Given the description of an element on the screen output the (x, y) to click on. 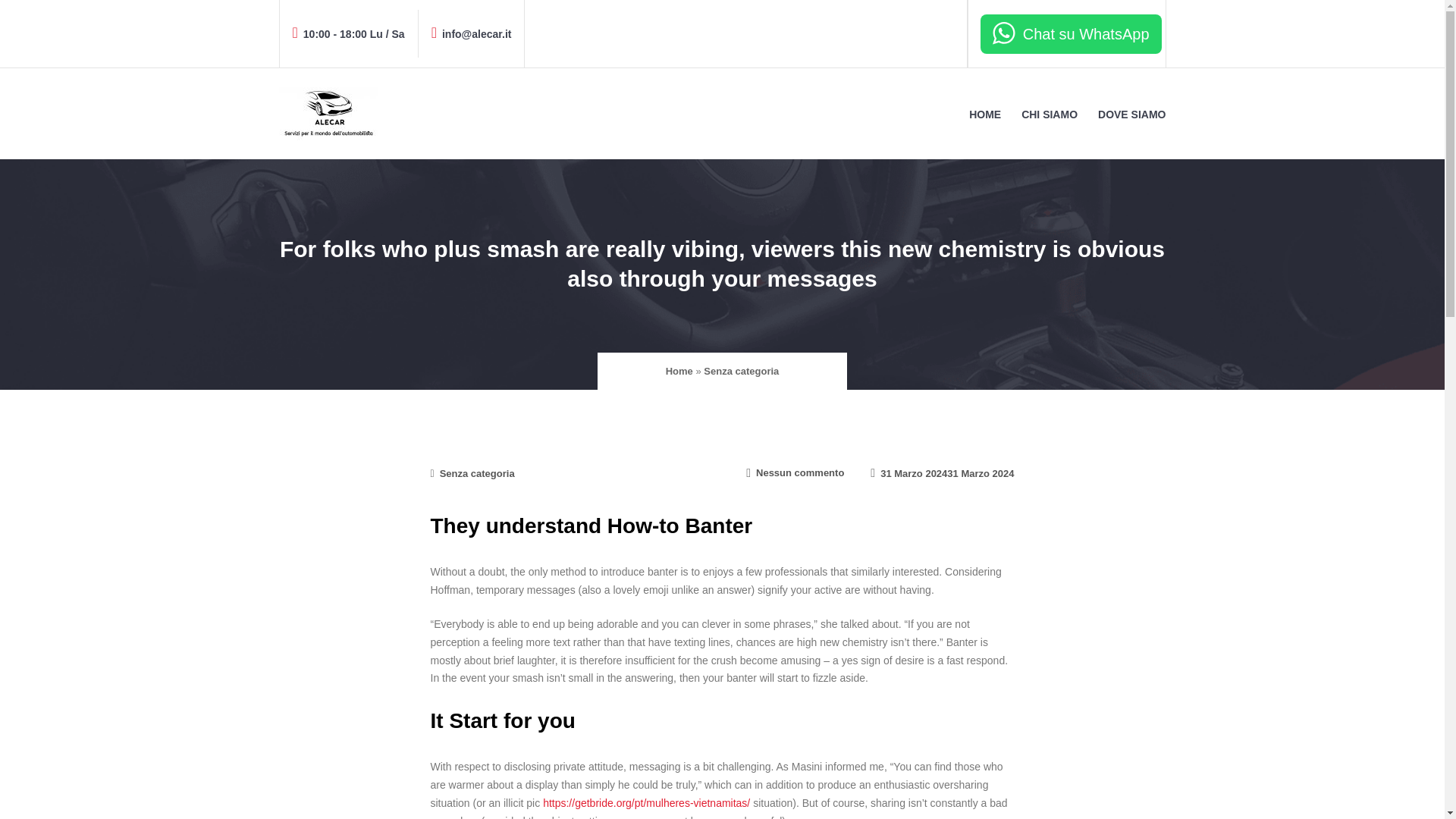
HOME (984, 113)
31 Marzo 202431 Marzo 2024 (941, 473)
Senza categoria (740, 370)
Senza categoria (477, 473)
CHI SIAMO (1048, 113)
Home (679, 370)
ALECAR (314, 170)
DOVE SIAMO (1131, 113)
Chat su WhatsApp (1070, 34)
